Given the description of an element on the screen output the (x, y) to click on. 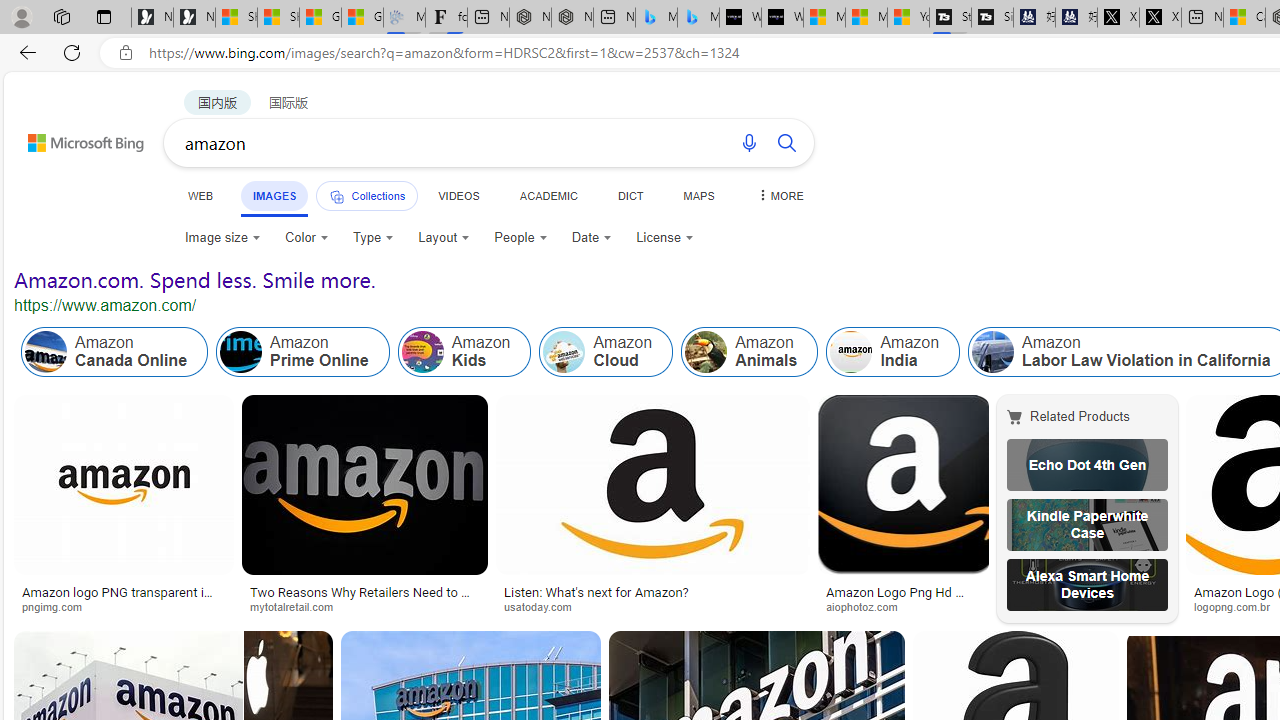
Echo Dot 4th Gen (1087, 465)
Alexa Smart Home Devices (1087, 584)
MORE (779, 195)
usatoday.com (545, 605)
Listen: What's next for Amazon?usatoday.comSave (656, 508)
License (664, 237)
Image size (221, 237)
Amazon Cloud (564, 351)
Amazon Kids (422, 351)
